Given the description of an element on the screen output the (x, y) to click on. 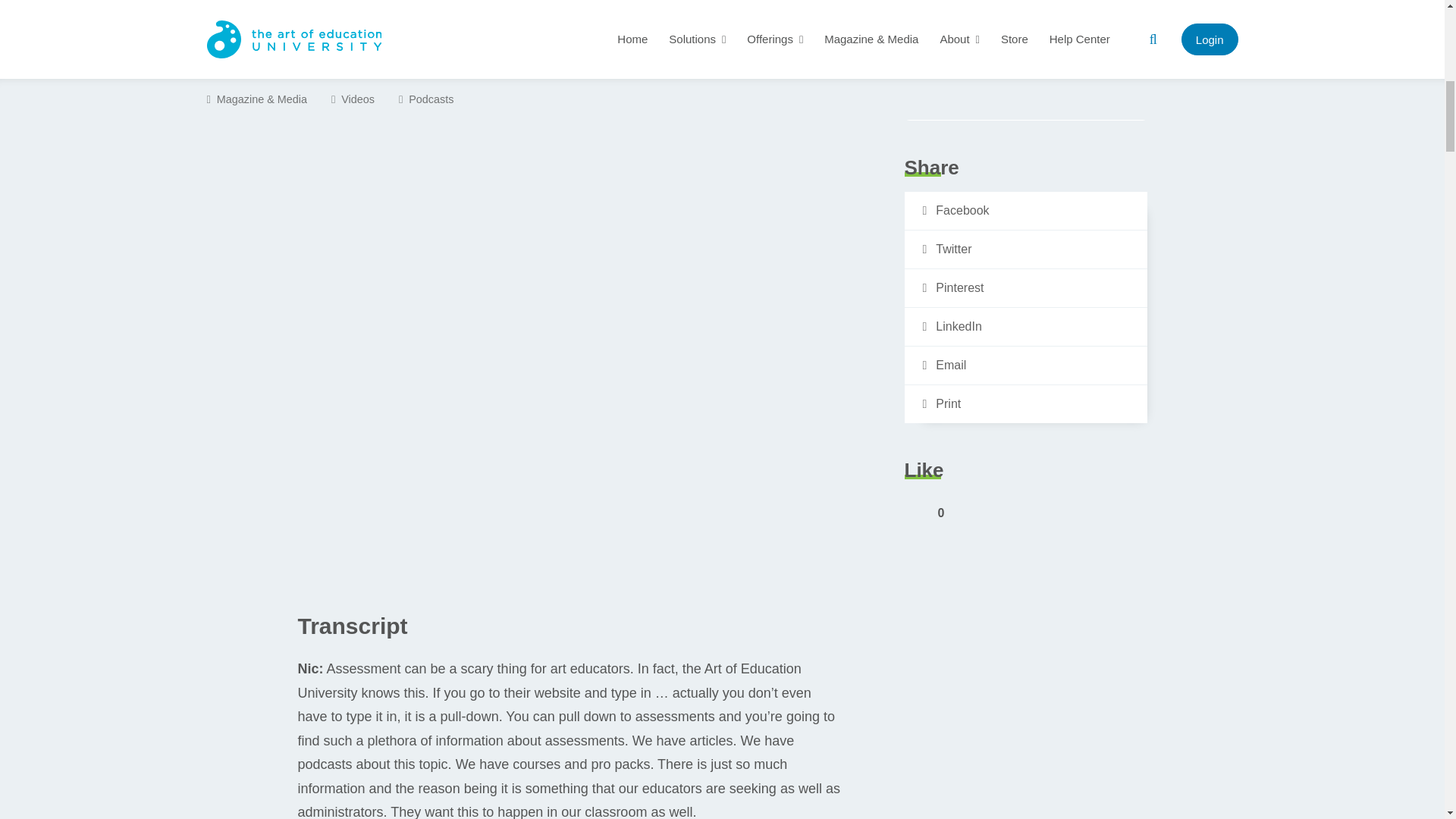
Learn More (1025, 75)
